Given the description of an element on the screen output the (x, y) to click on. 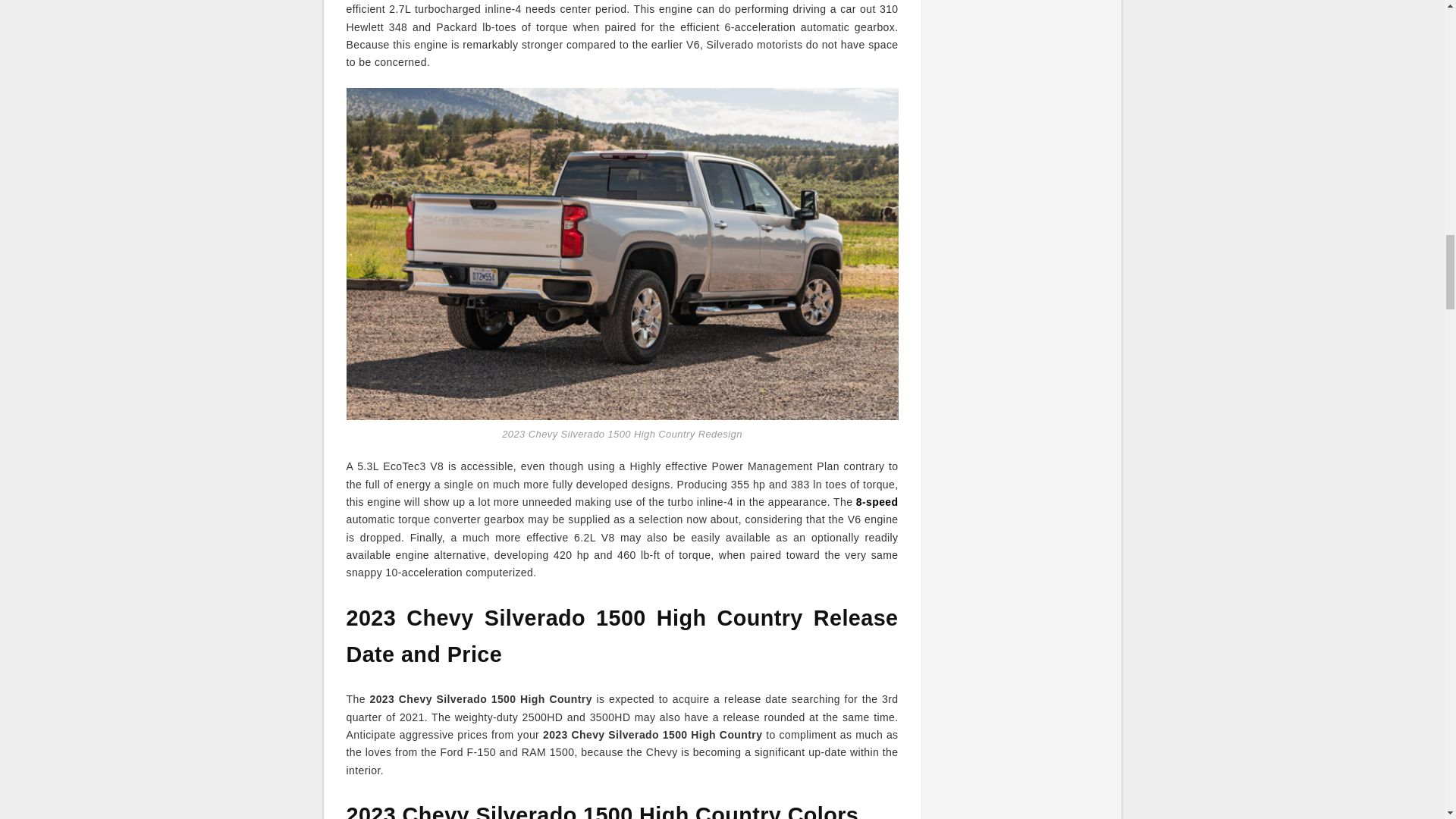
8-speed (877, 501)
